Given the description of an element on the screen output the (x, y) to click on. 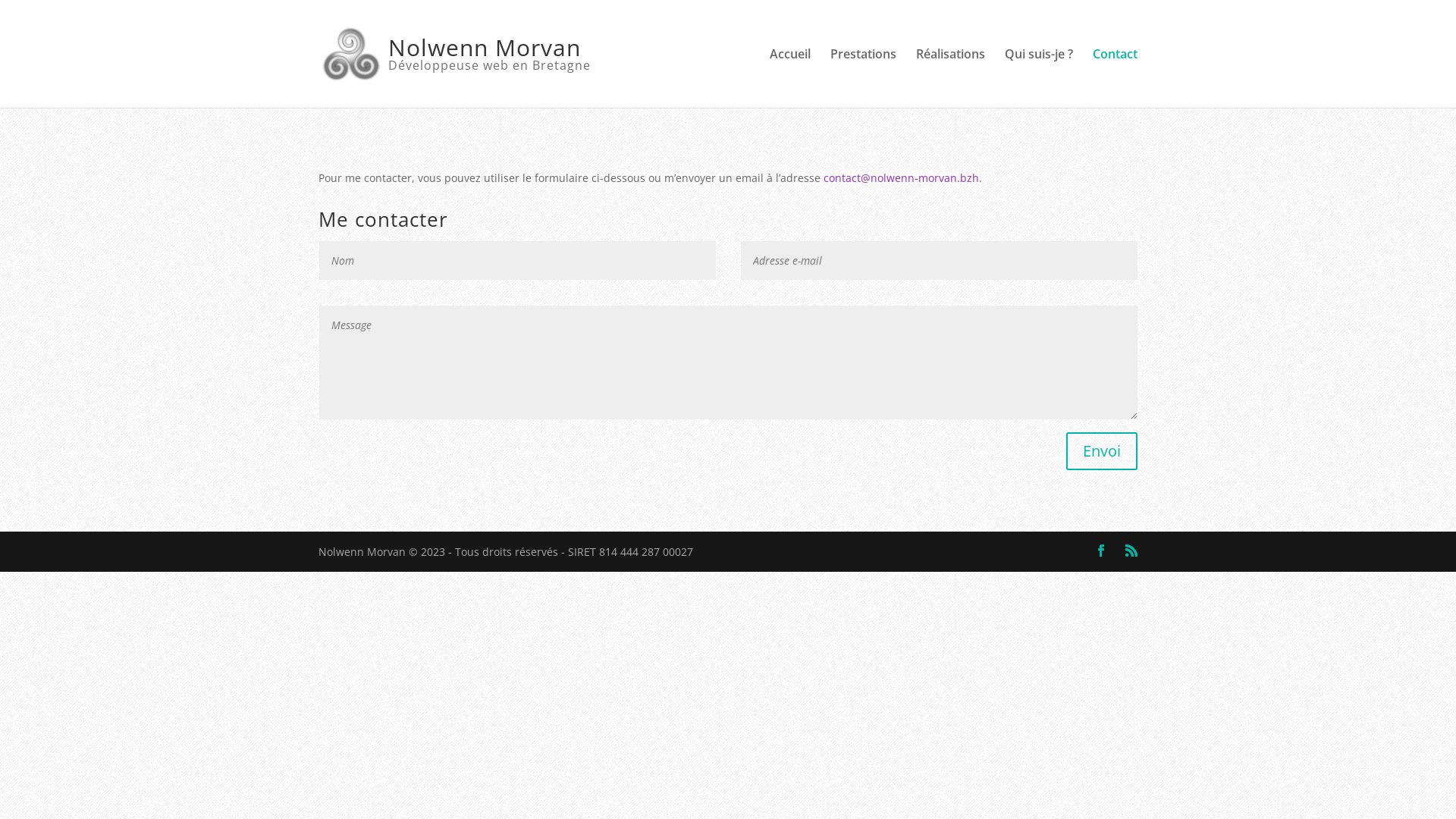
Prestations Element type: text (863, 77)
Qui suis-je ? Element type: text (1038, 77)
Envoi Element type: text (1101, 451)
Contact Element type: text (1114, 77)
Accueil Element type: text (789, 77)
contact@nolwenn-morvan.bzh Element type: text (901, 177)
